Given the description of an element on the screen output the (x, y) to click on. 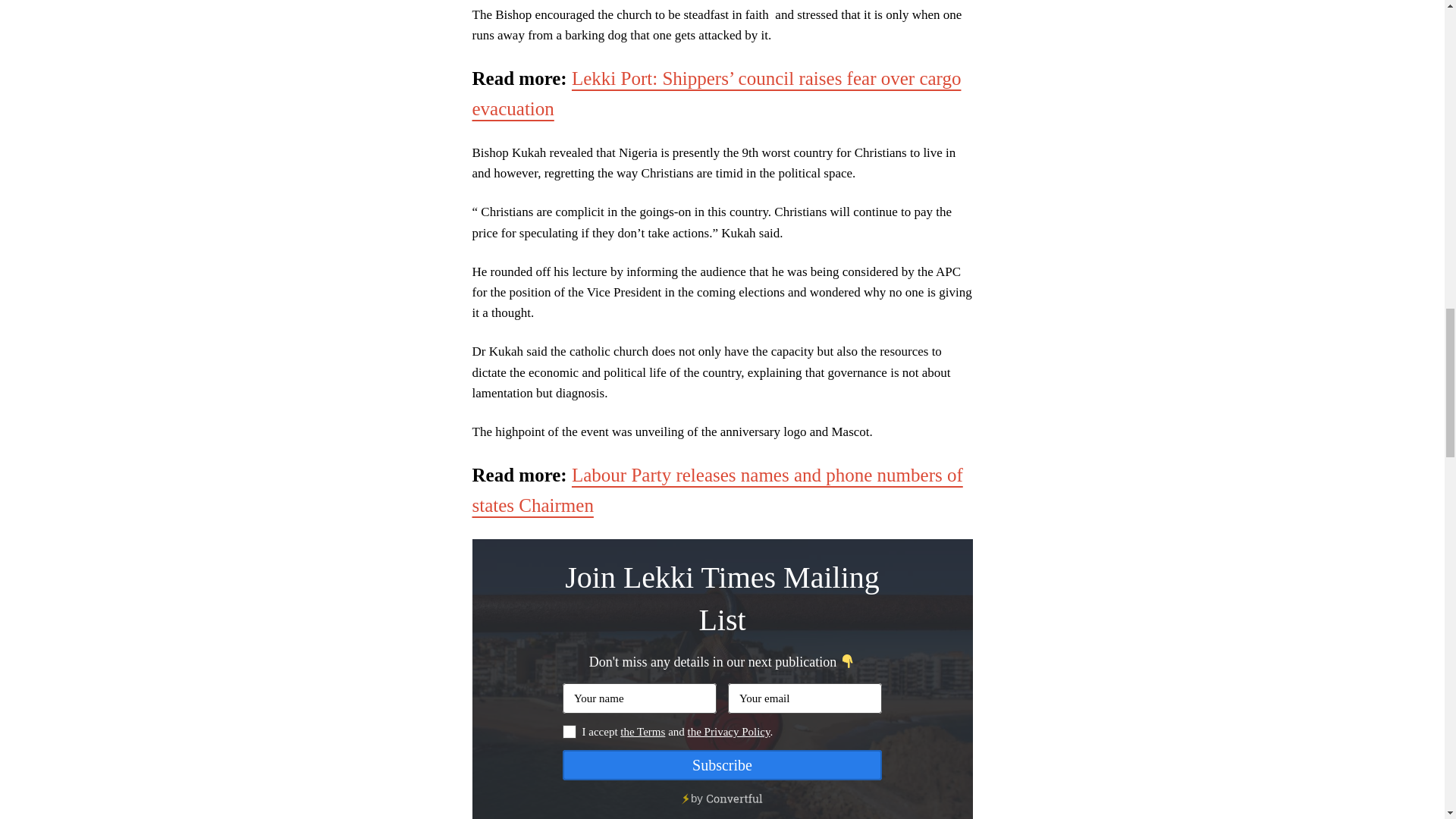
powered by Convertful (722, 800)
